Given the description of an element on the screen output the (x, y) to click on. 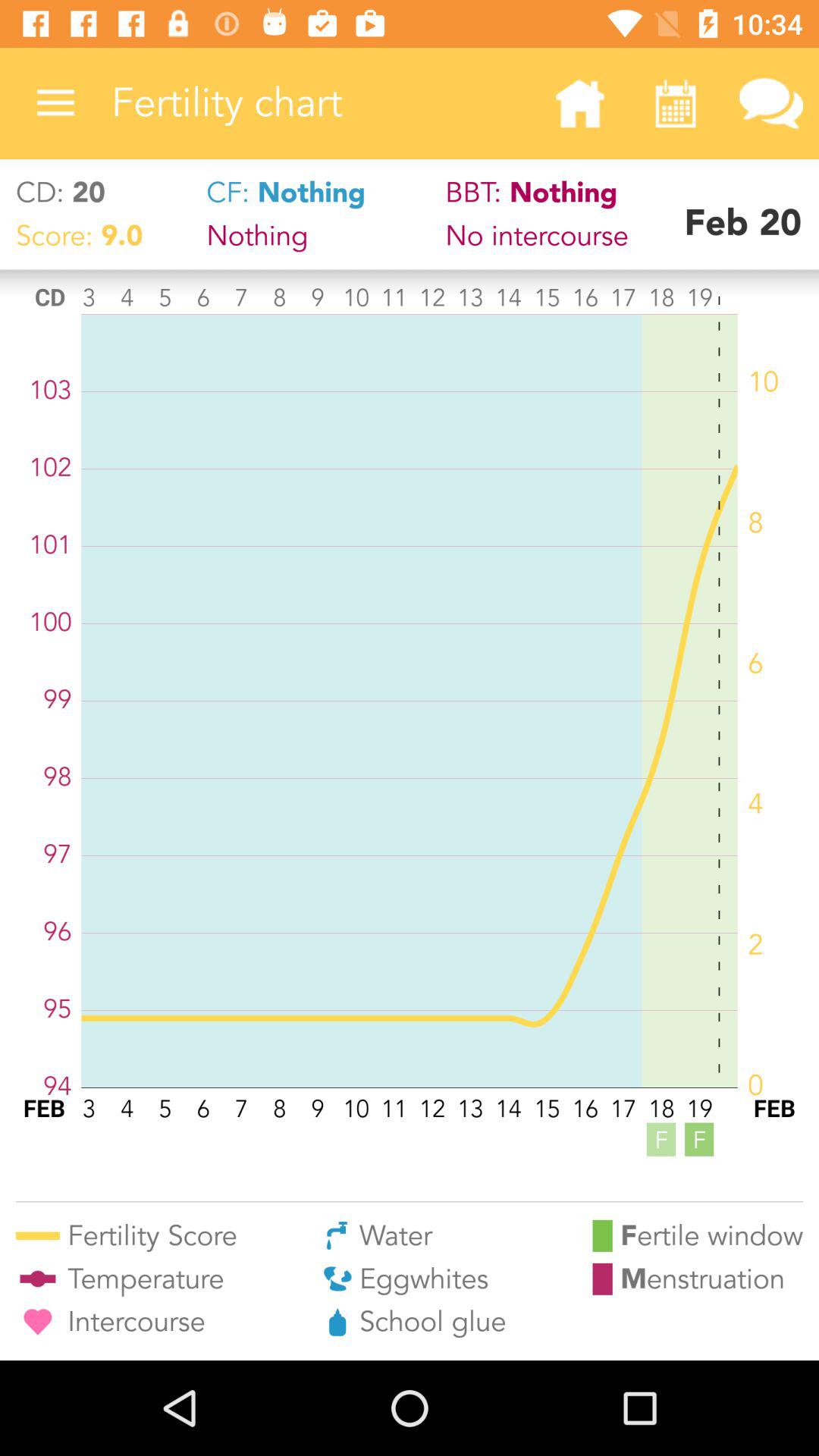
click the fertility chart icon (321, 103)
